Given the description of an element on the screen output the (x, y) to click on. 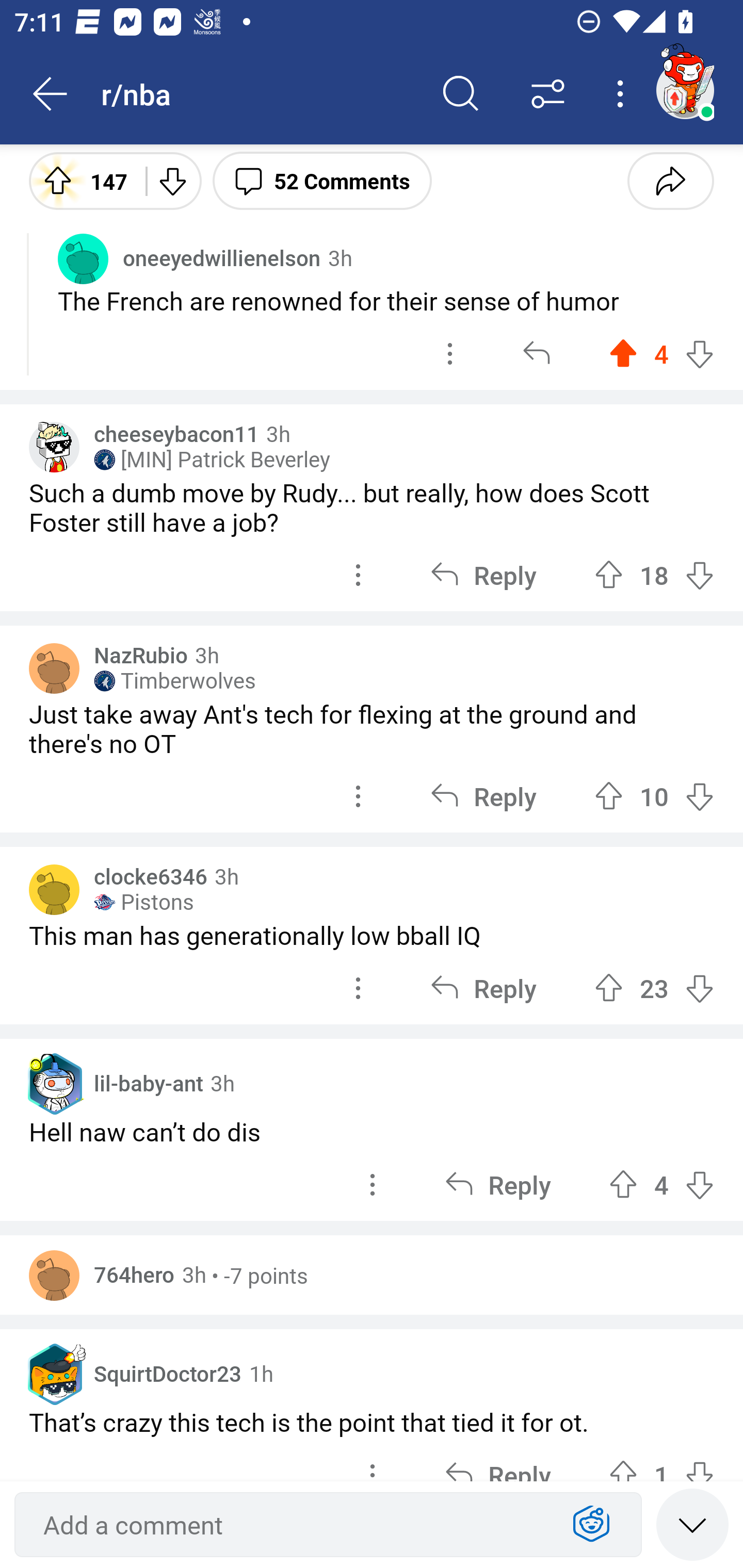
Back (50, 93)
TestAppium002 account (685, 90)
Search comments (460, 93)
Sort comments (547, 93)
More options (623, 93)
r/nba (259, 92)
Upvote 147 (79, 180)
Downvote (171, 180)
52 Comments (321, 180)
Share (670, 180)
Avatar (82, 258)
The French are renowned for their sense of humor (385, 300)
options (449, 354)
Upvote 4 4 votes Downvote (661, 354)
Custom avatar (53, 446)
￼ [MIN] Patrick Beverley (211, 458)
options (358, 575)
Reply (483, 575)
Upvote 18 18 votes Downvote (654, 575)
Avatar (53, 667)
￼ Timberwolves (174, 680)
options (358, 796)
Reply (483, 796)
Upvote 10 10 votes Downvote (654, 796)
Avatar (53, 889)
￼ Pistons (143, 902)
This man has generationally low bball IQ (371, 934)
options (358, 987)
Reply (483, 987)
Upvote 23 23 votes Downvote (654, 987)
Hell naw can’t do dis (371, 1131)
options (372, 1185)
Reply (498, 1185)
Upvote 4 4 votes Downvote (661, 1185)
Avatar (53, 1274)
Speed read (692, 1524)
Add a comment (291, 1524)
Show Expressions (590, 1524)
